Given the description of an element on the screen output the (x, y) to click on. 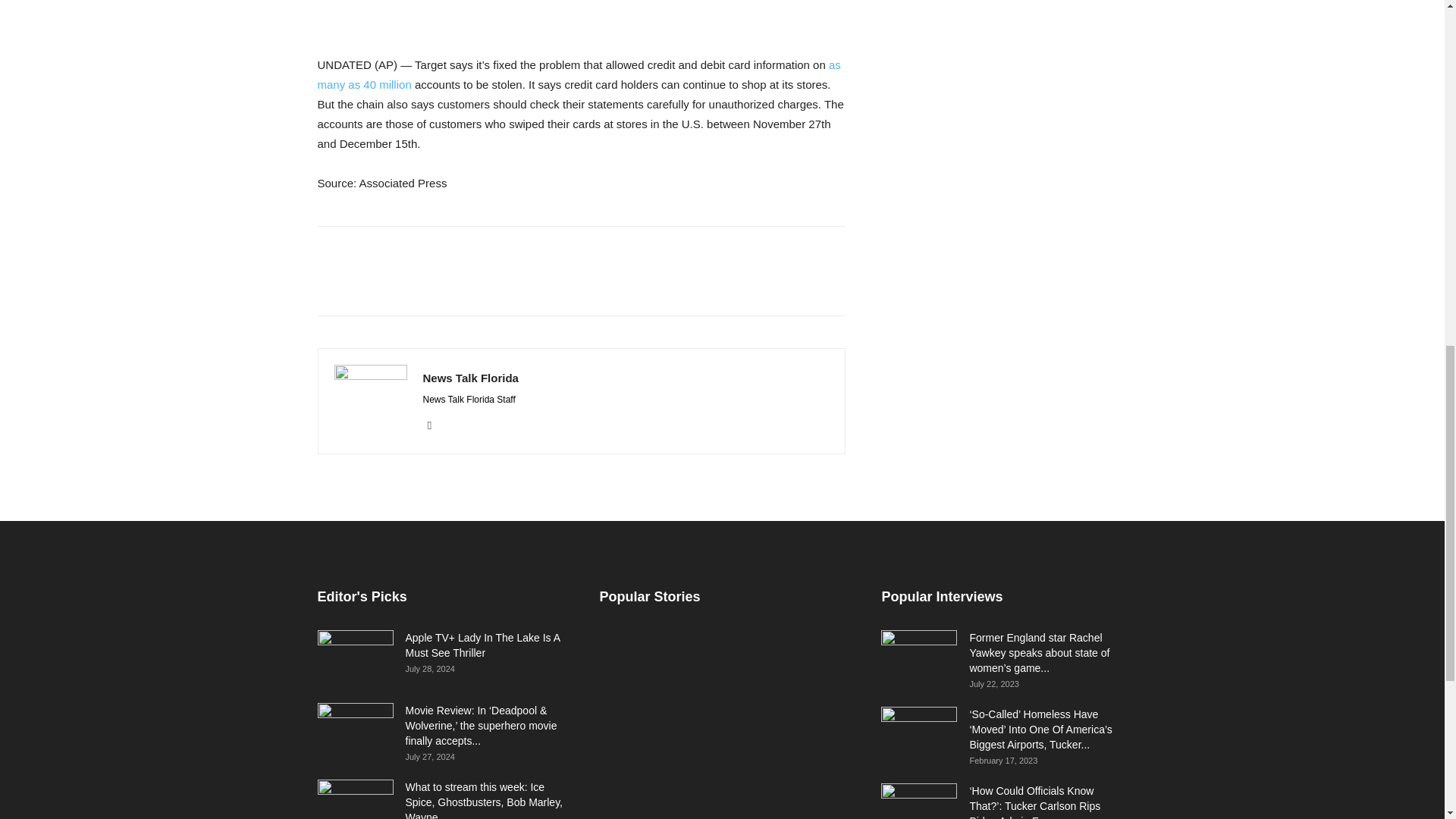
Twitter (435, 425)
